Given the description of an element on the screen output the (x, y) to click on. 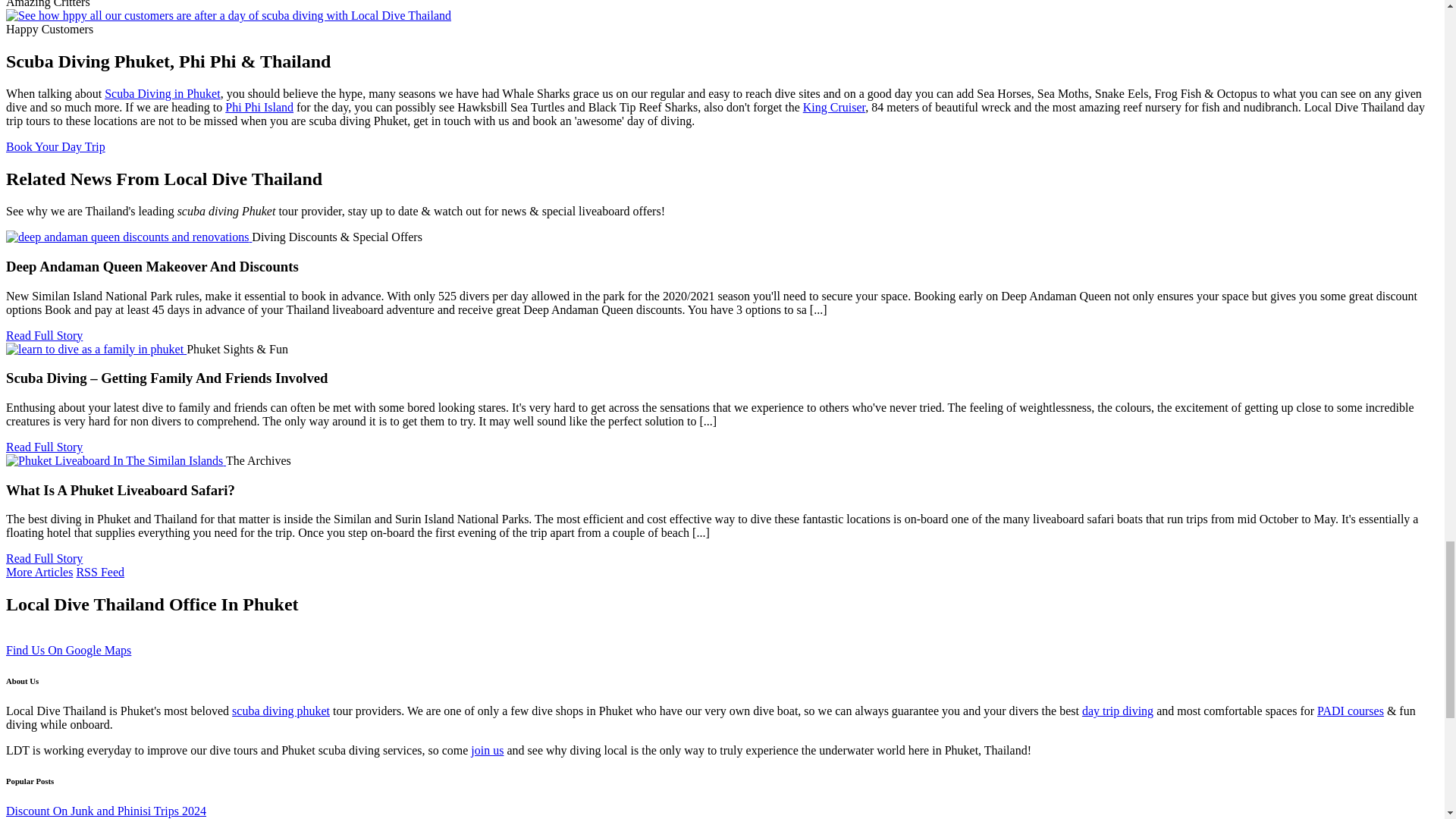
Gallery of our happy customers! (228, 15)
Phi Phi Island scuba diving information (259, 106)
Scuba Diving In Phuket (161, 92)
King Cruiser diving info (833, 106)
